Given the description of an element on the screen output the (x, y) to click on. 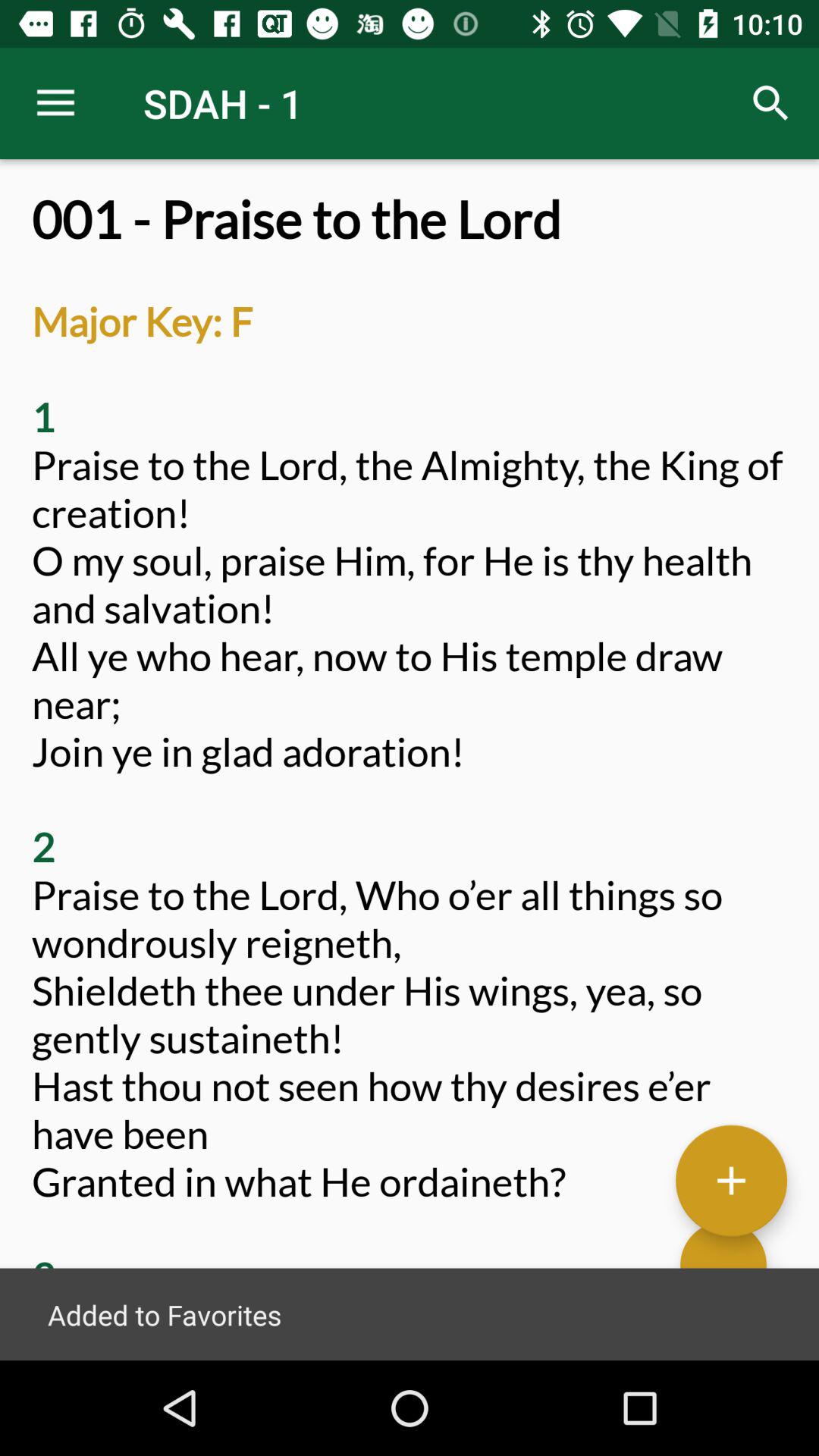
turn on the item at the top right corner (771, 103)
